Given the description of an element on the screen output the (x, y) to click on. 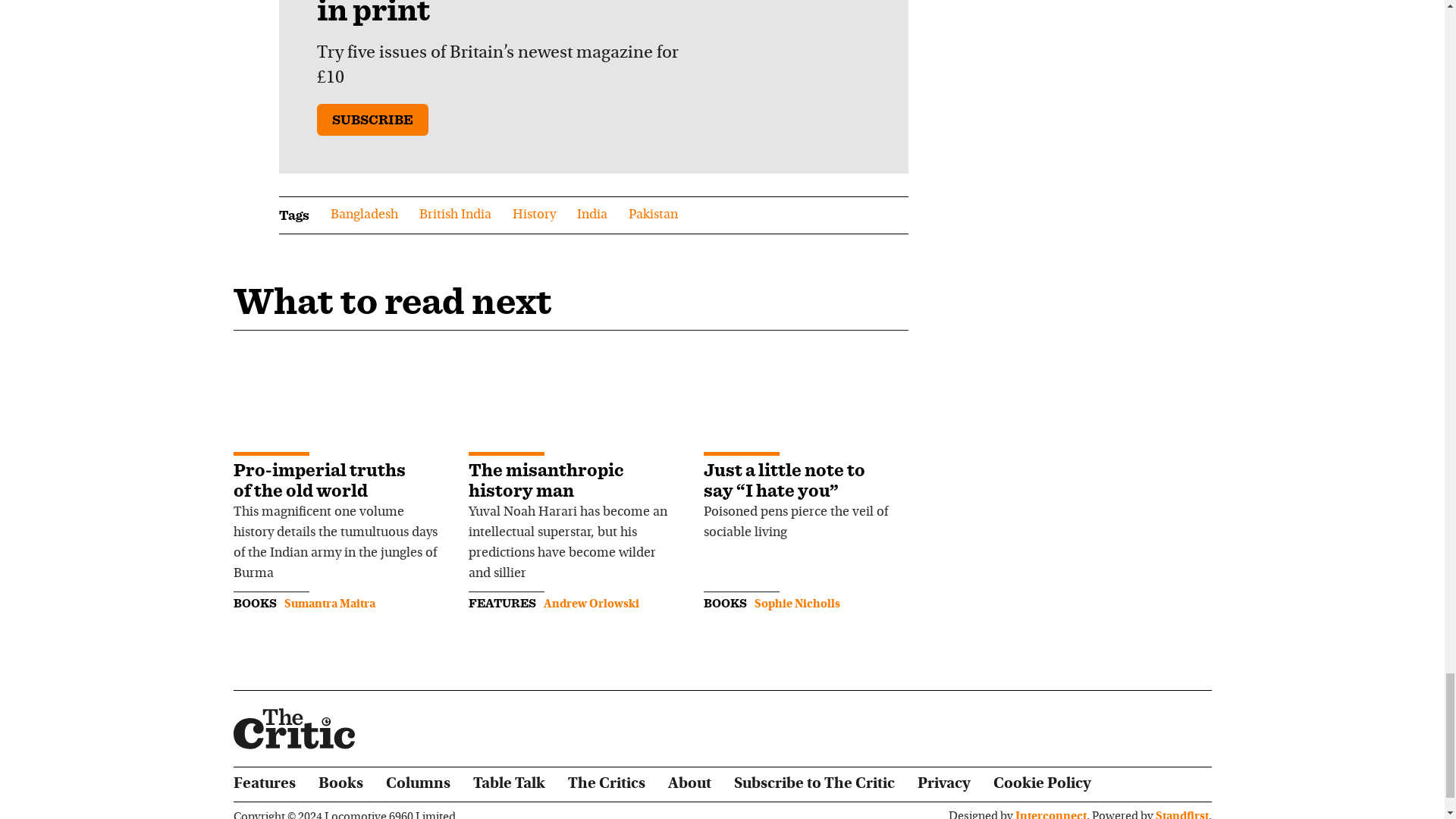
Bangladesh (363, 215)
BOOKS (254, 603)
History (534, 215)
Pakistan (652, 215)
India (591, 215)
Posts by Sumantra Maitra (328, 604)
Posts by Sophie Nicholls (797, 604)
Sumantra Maitra (328, 604)
Posts by Andrew Orlowski (591, 604)
SUBSCRIBE (372, 119)
